Given the description of an element on the screen output the (x, y) to click on. 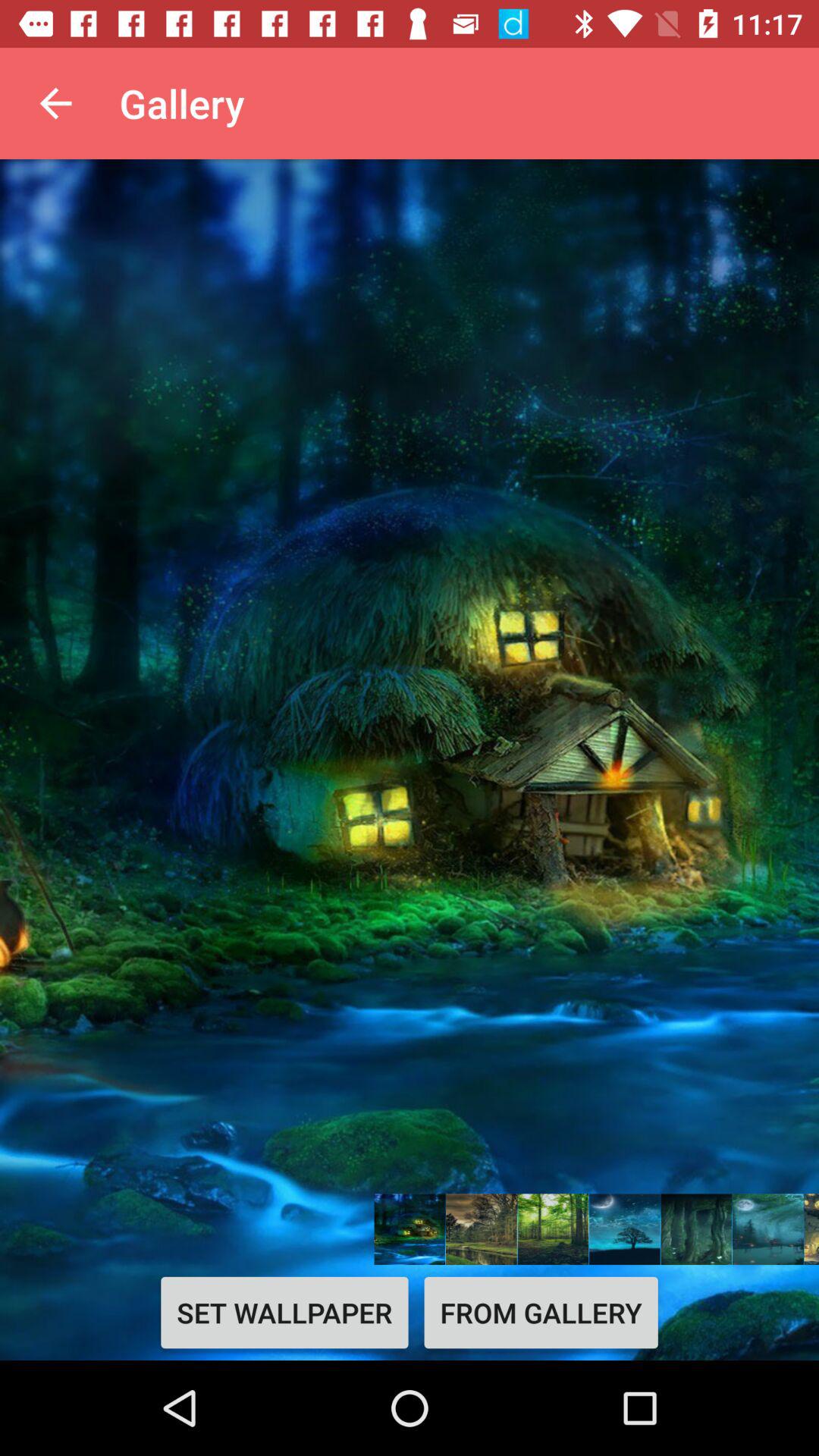
choose the item to the right of the set wallpaper (541, 1312)
